Given the description of an element on the screen output the (x, y) to click on. 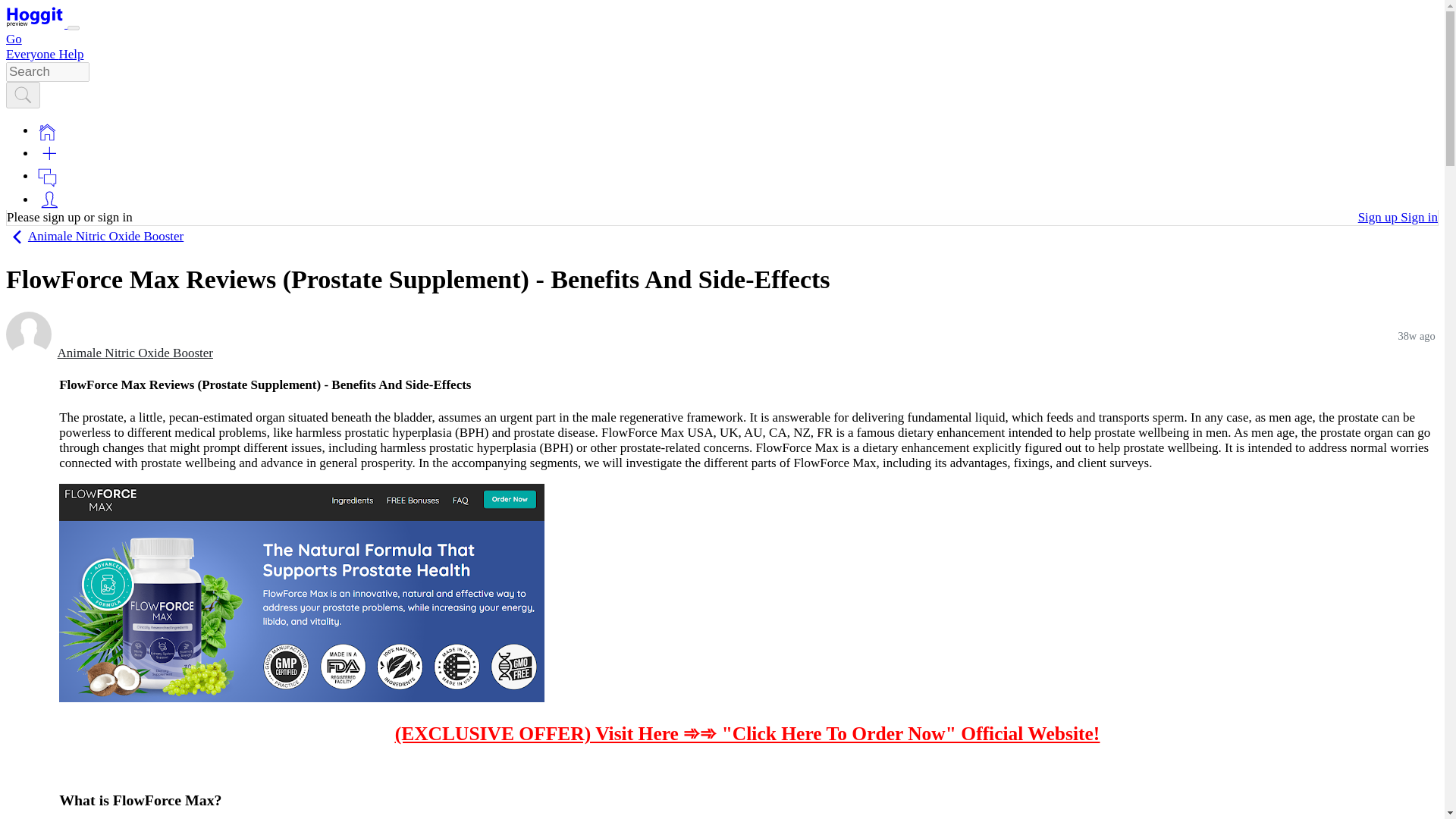
BackAnimale Nitric Oxide Booster (94, 236)
My Hoggit (49, 199)
Home (47, 130)
Back (16, 237)
Search (22, 95)
Notifications (47, 177)
Sign in (1419, 216)
Help (70, 53)
Everyone (31, 53)
Add (49, 153)
My Hoggit (49, 199)
Hoggit home page (34, 16)
Notifications (47, 175)
Go (13, 38)
Animale Nitric Oxide Booster (135, 352)
